Given the description of an element on the screen output the (x, y) to click on. 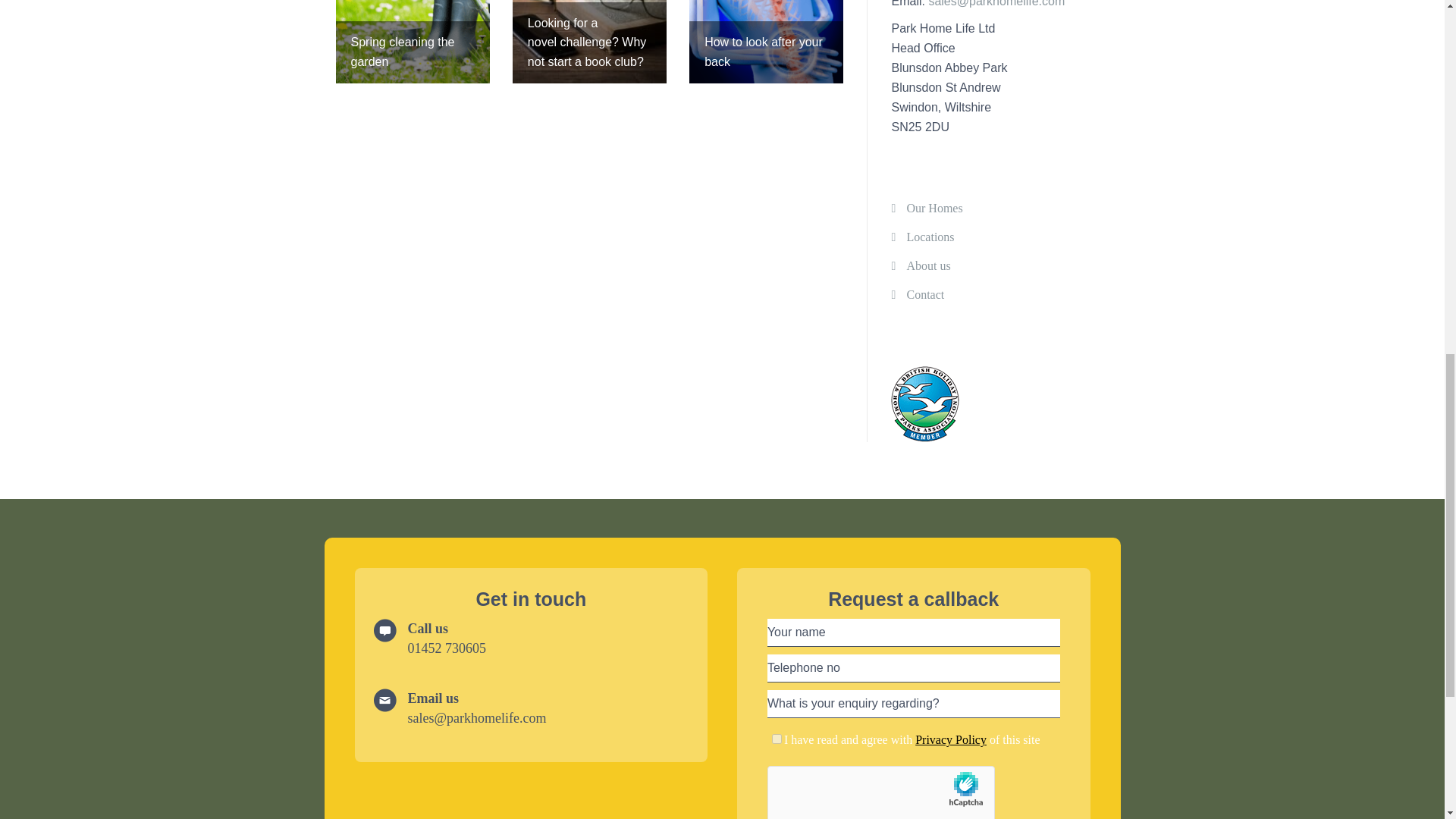
How to look after your back (765, 41)
How to look after your back (765, 41)
Spring cleaning the garden (411, 41)
Looking for a novel challenge? Why not start a book club?  (589, 41)
Spring cleaning the garden (411, 41)
